Given the description of an element on the screen output the (x, y) to click on. 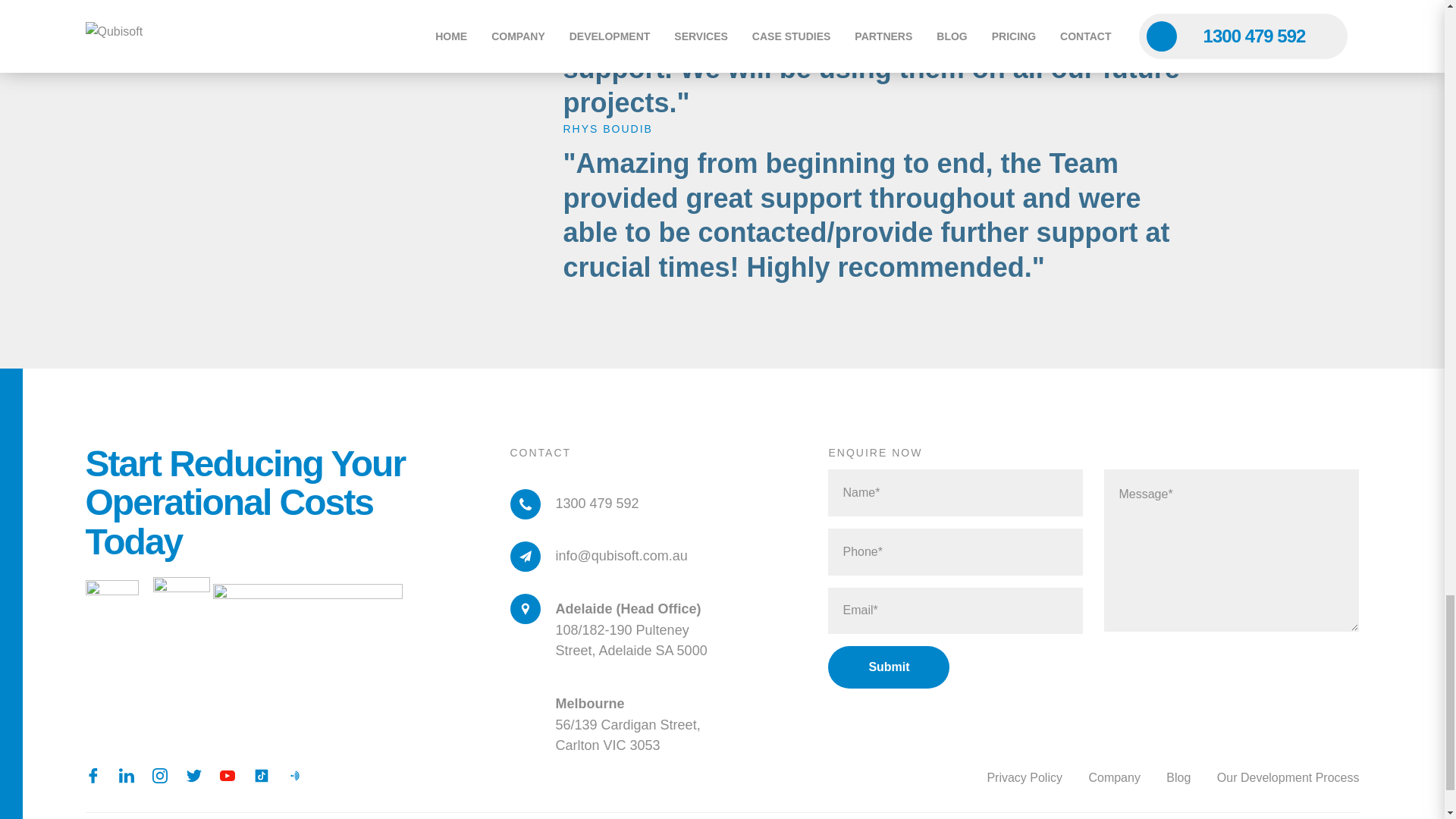
Submit (888, 667)
1300 479 592 (574, 503)
